Given the description of an element on the screen output the (x, y) to click on. 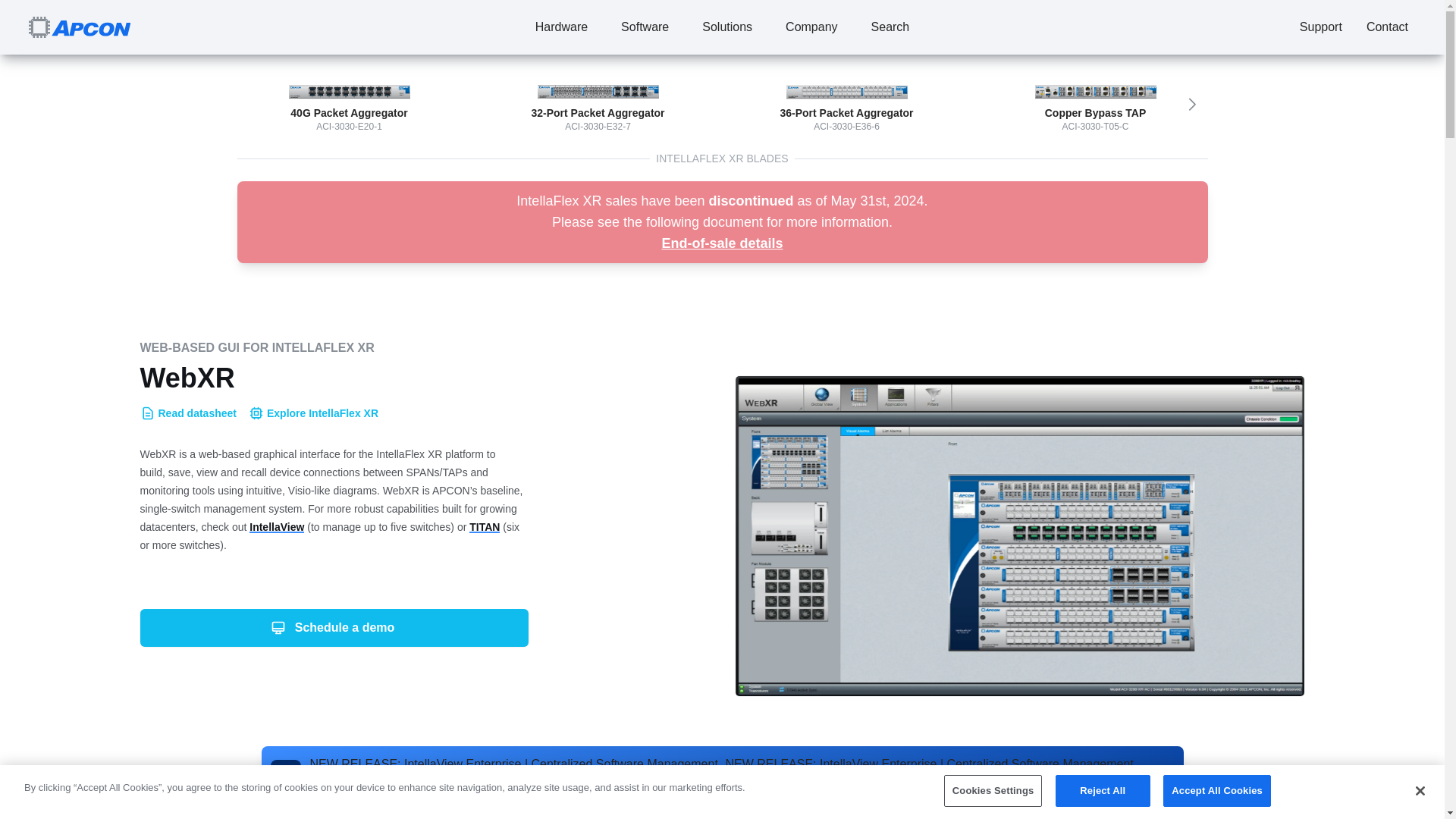
Solutions (727, 27)
End-of-sale details (722, 242)
Schedule a demo (333, 628)
TITAN (483, 526)
Your Company (79, 27)
Support (1320, 27)
